Given the description of an element on the screen output the (x, y) to click on. 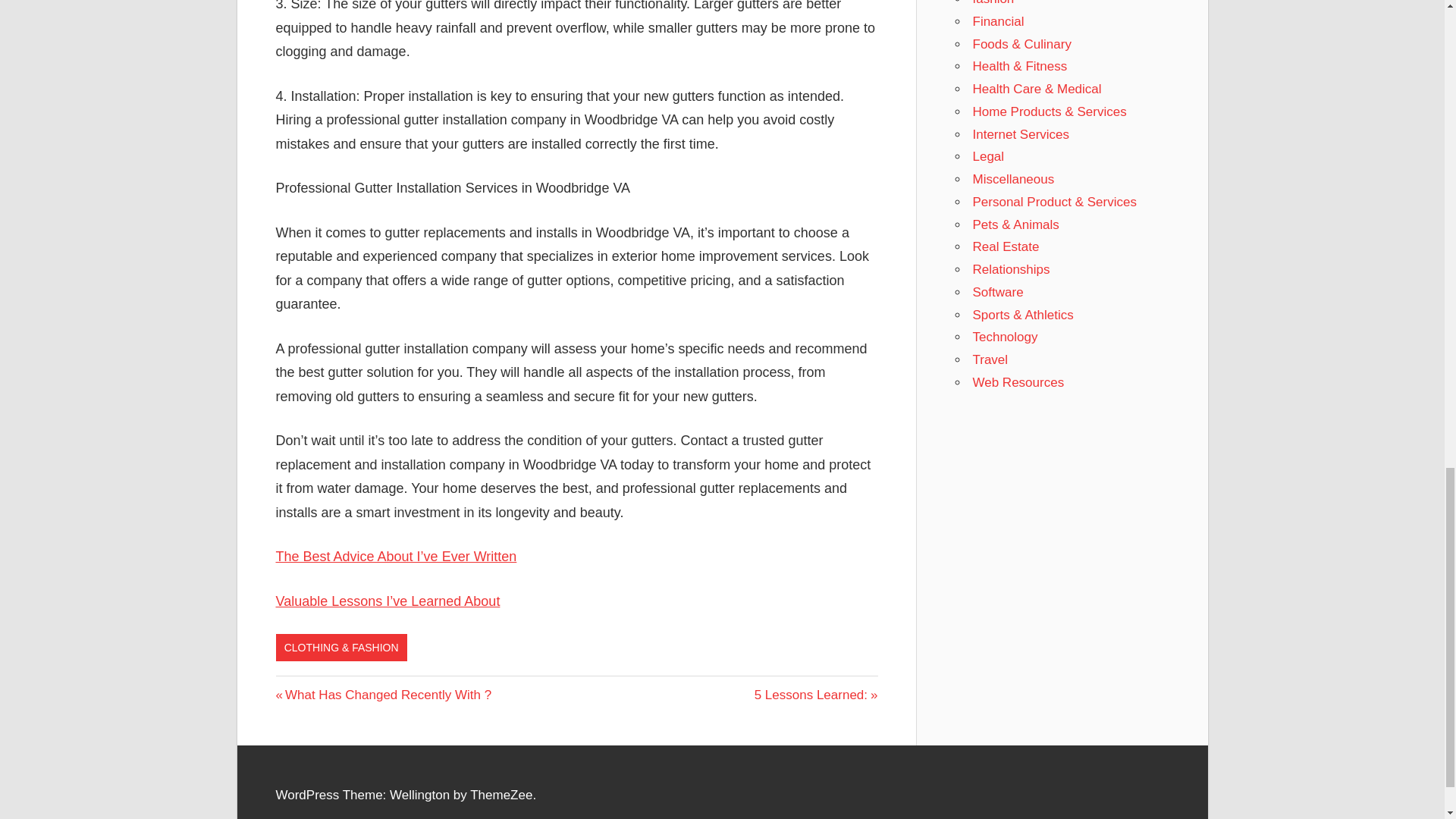
fashion (815, 694)
Financial (992, 2)
